Given the description of an element on the screen output the (x, y) to click on. 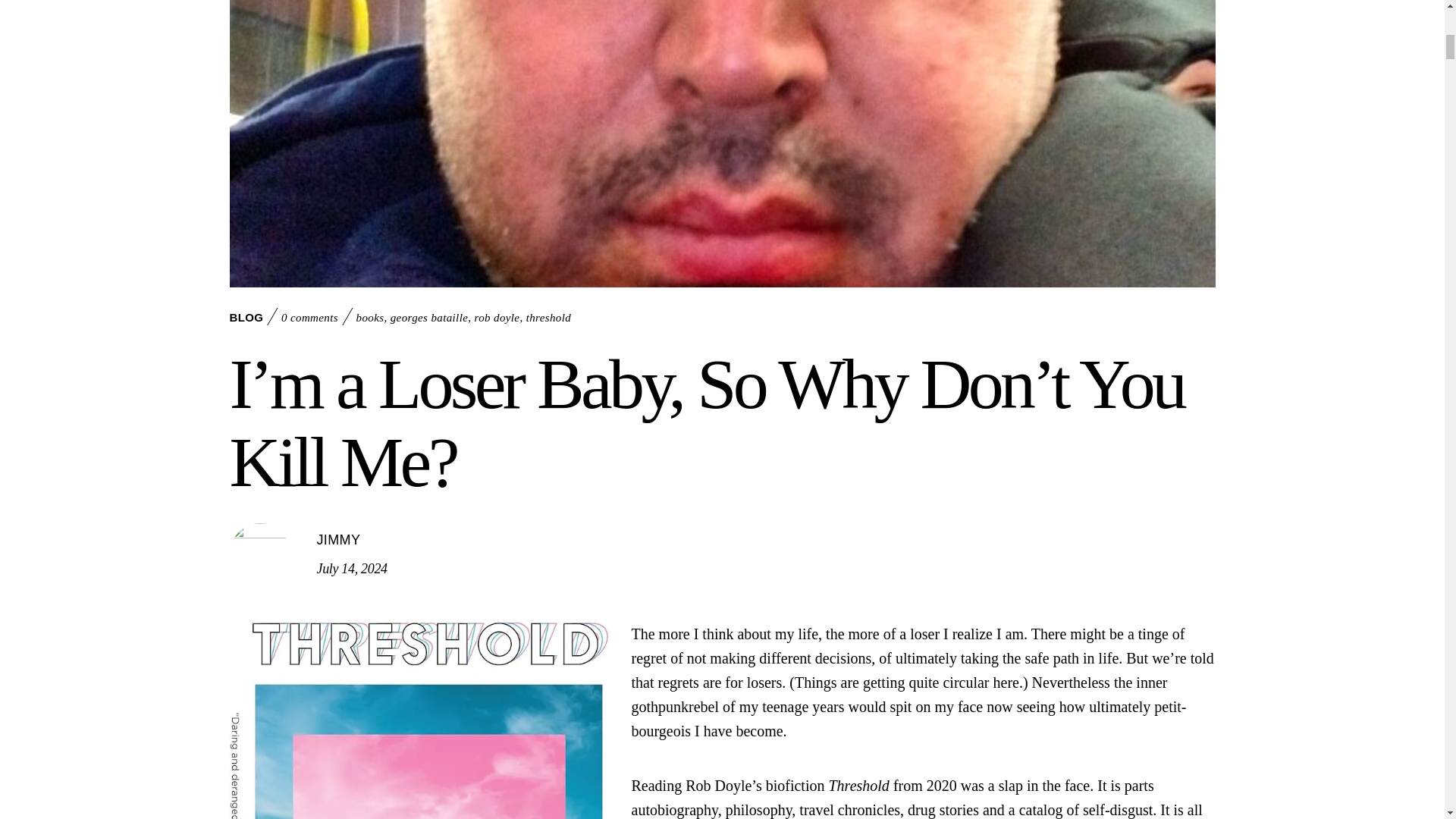
BLOG (245, 317)
0 comments (309, 317)
georges bataille (429, 317)
JIMMY (339, 539)
books (370, 317)
rob doyle (496, 317)
threshold (548, 317)
